Given the description of an element on the screen output the (x, y) to click on. 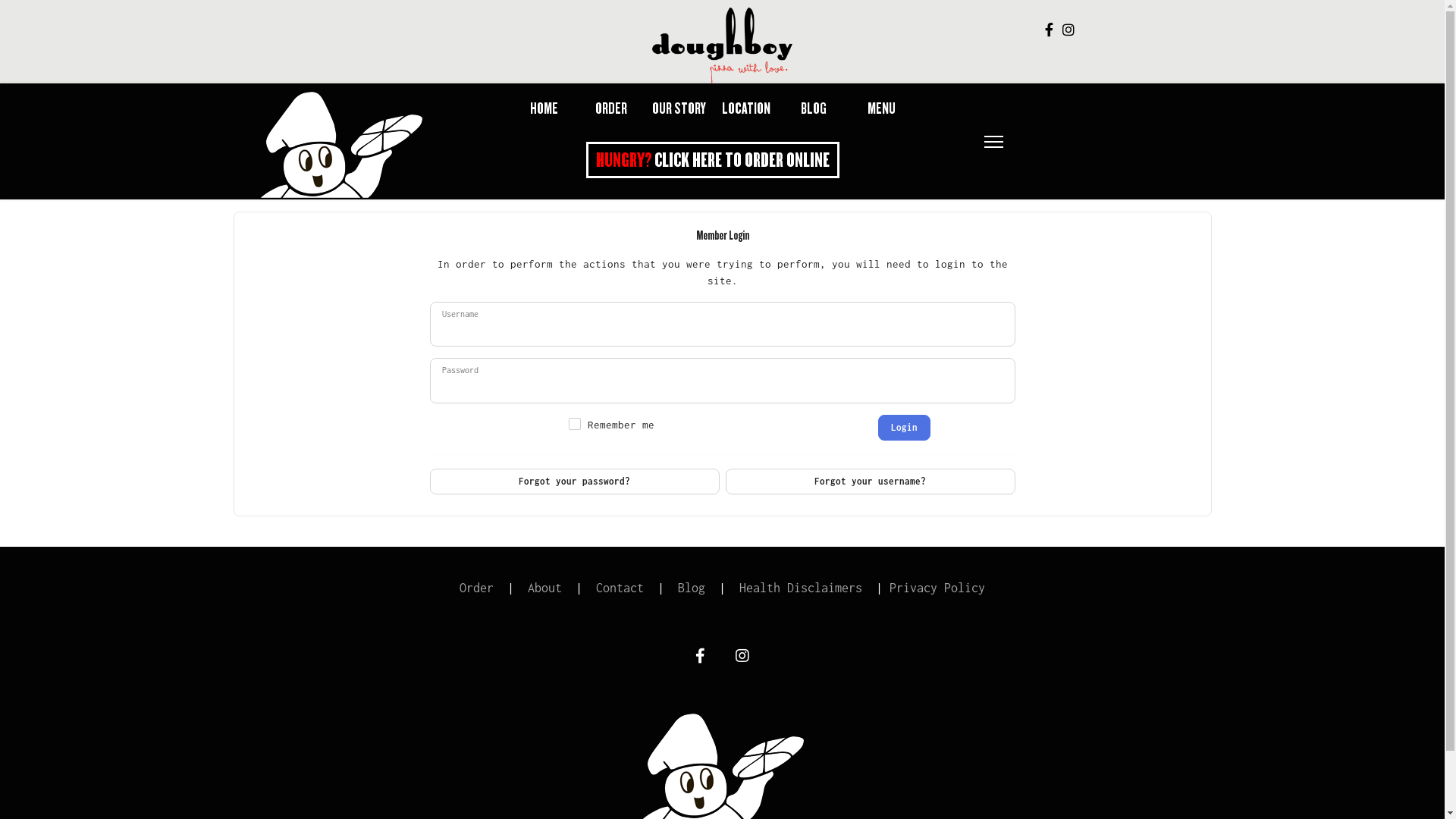
BLOG Element type: text (813, 109)
HUNGRY? CLICK HERE TO ORDER ONLINE Element type: text (712, 159)
Contact Element type: text (616, 587)
Blog  Element type: text (694, 587)
Order Element type: text (476, 587)
Follow Doughboy on Facebook Element type: hover (1048, 29)
About Element type: text (544, 587)
HOME Element type: text (543, 109)
Privacy Policy Element type: text (937, 587)
MENU Element type: text (881, 109)
Icon group item Element type: hover (742, 655)
Health Disclaimers Element type: text (800, 587)
Forgot your username? Element type: text (869, 481)
OUR STORY Element type: text (679, 109)
ORDER Element type: text (611, 109)
Login Element type: text (904, 427)
Follow Doughboy on Instagram Element type: hover (1068, 29)
Icon group item Element type: hover (700, 655)
LOCATION Element type: text (745, 109)
Forgot your password? Element type: text (573, 481)
